Given the description of an element on the screen output the (x, y) to click on. 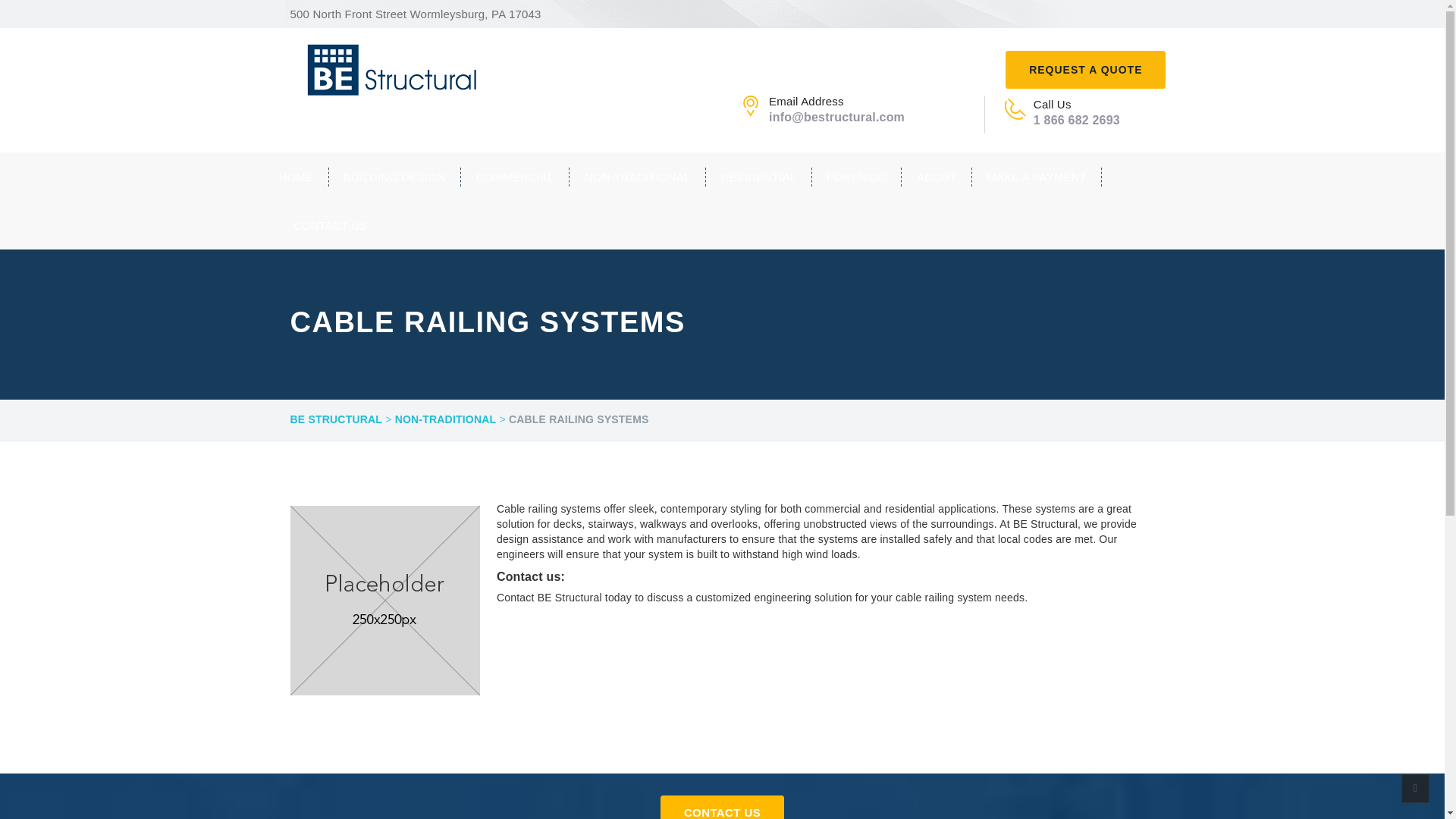
RESIDENTIAL (759, 176)
BUILDING DESIGN (395, 176)
FORENSIC (857, 176)
Go to Non-Traditional. (445, 419)
Go to Be Structural. (335, 419)
HOME (304, 176)
Be Structural (392, 69)
NON-TRADITIONAL (637, 176)
COMMERCIAL (515, 176)
REQUEST A QUOTE (1086, 68)
1 866 682 2693 (1076, 119)
ABOUT (936, 176)
